Given the description of an element on the screen output the (x, y) to click on. 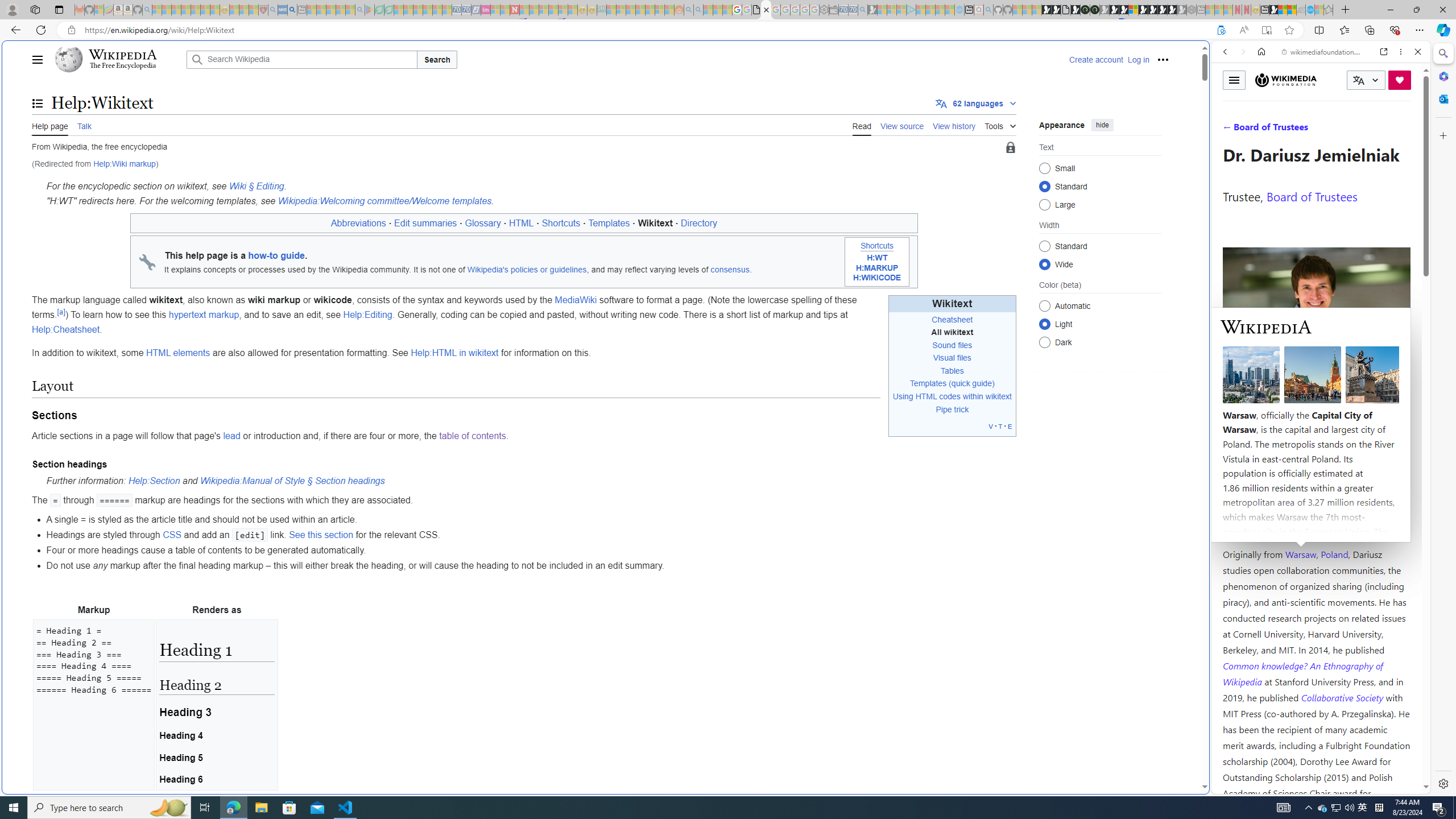
CSS (172, 534)
CURRENT LANGUAGE: (1366, 80)
Standard (1044, 245)
